Given the description of an element on the screen output the (x, y) to click on. 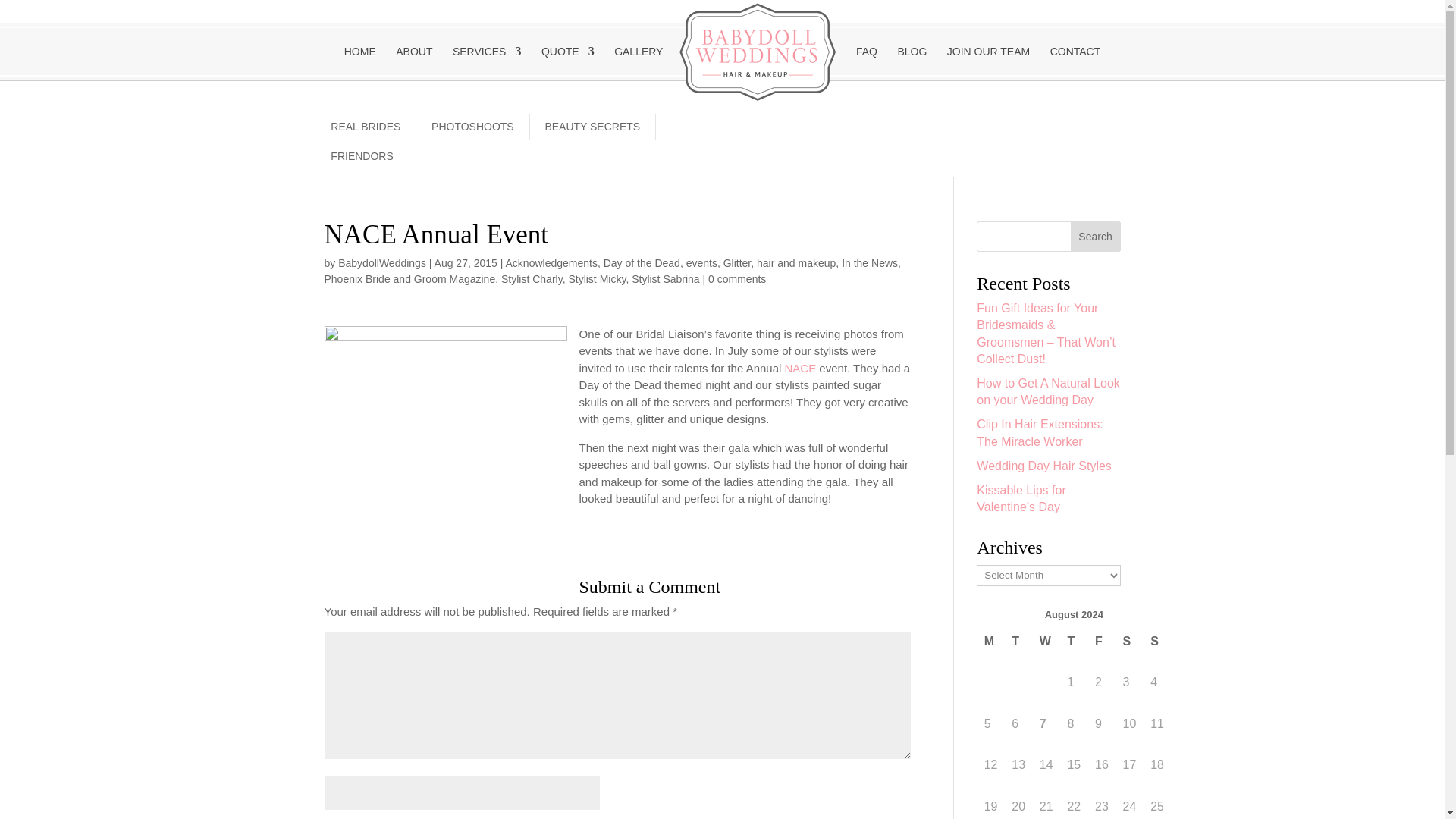
REAL BRIDES (365, 126)
QUOTE (567, 60)
BLOG (911, 60)
events (701, 263)
Search (1095, 236)
Glitter (737, 263)
Acknowledgements (550, 263)
SERVICES (486, 60)
Posts by BabydollWeddings (381, 263)
PHOTOSHOOTS (472, 126)
